Given the description of an element on the screen output the (x, y) to click on. 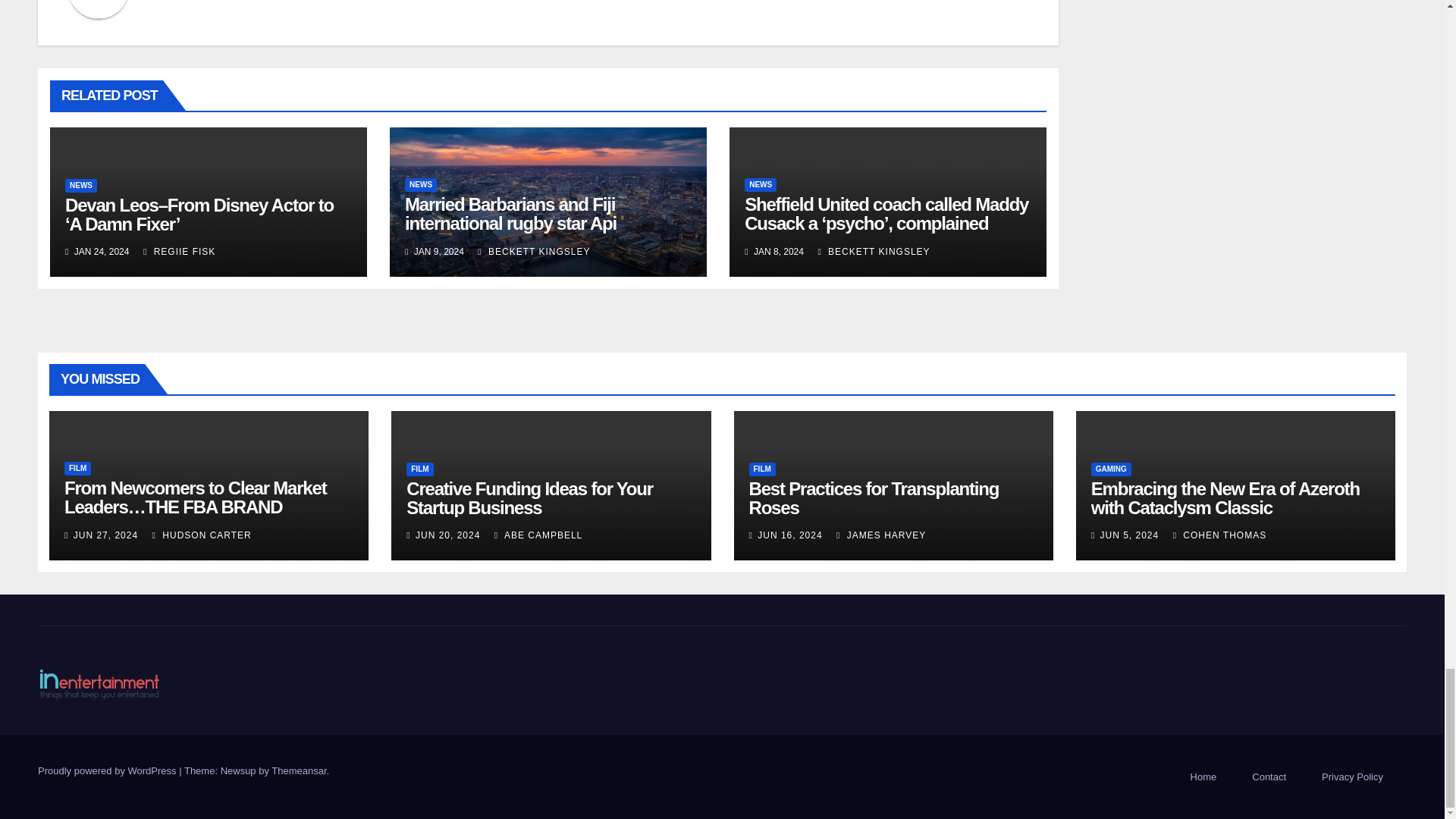
BECKETT KINGSLEY (533, 251)
NEWS (420, 184)
REGIIE FISK (178, 251)
NEWS (760, 184)
NEWS (81, 185)
Permalink to: Best Practices for Transplanting Roses (873, 497)
Home (1202, 776)
BECKETT KINGSLEY (873, 251)
